Given the description of an element on the screen output the (x, y) to click on. 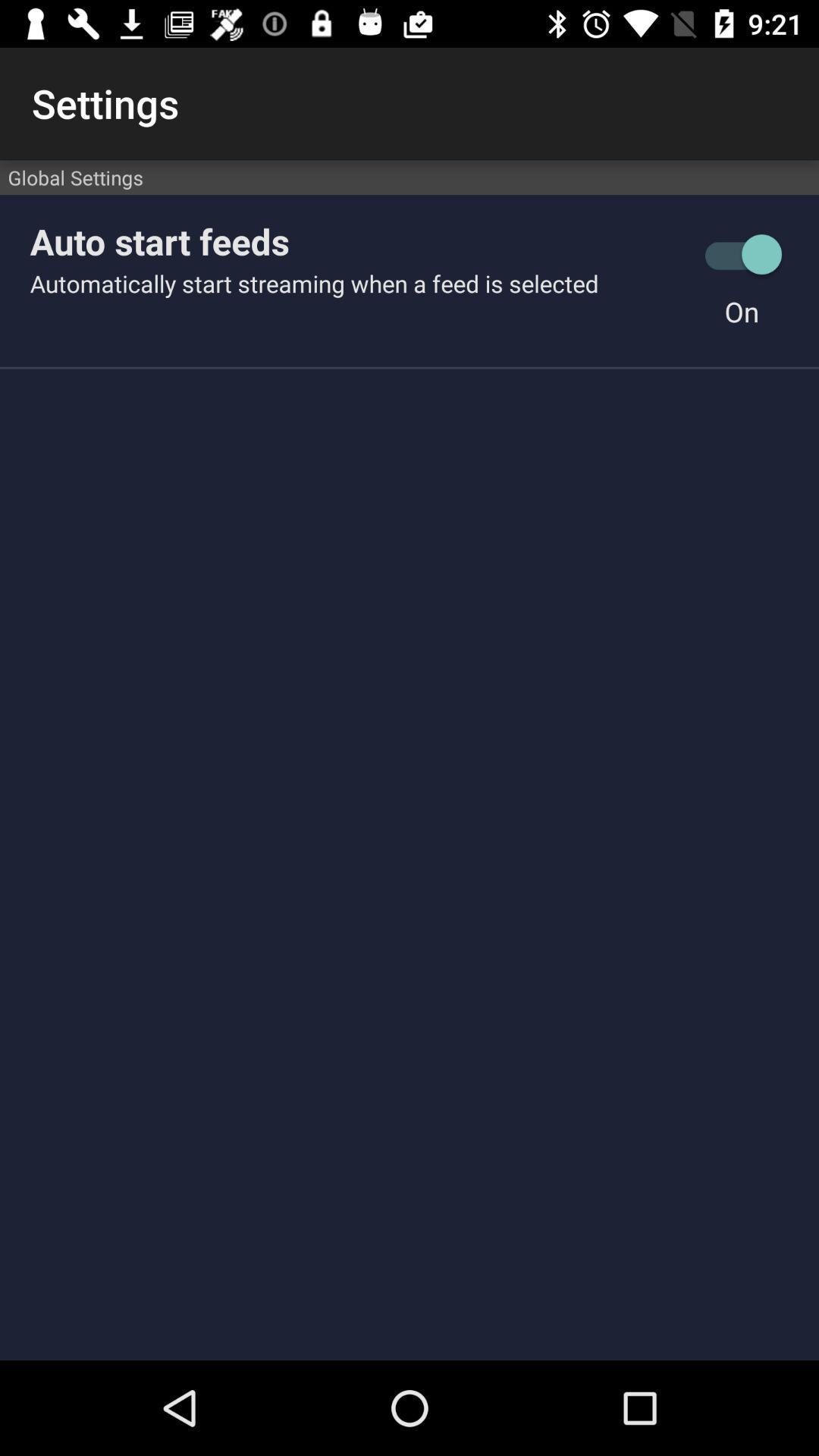
turn on the item next to the auto start feeds item (741, 254)
